Given the description of an element on the screen output the (x, y) to click on. 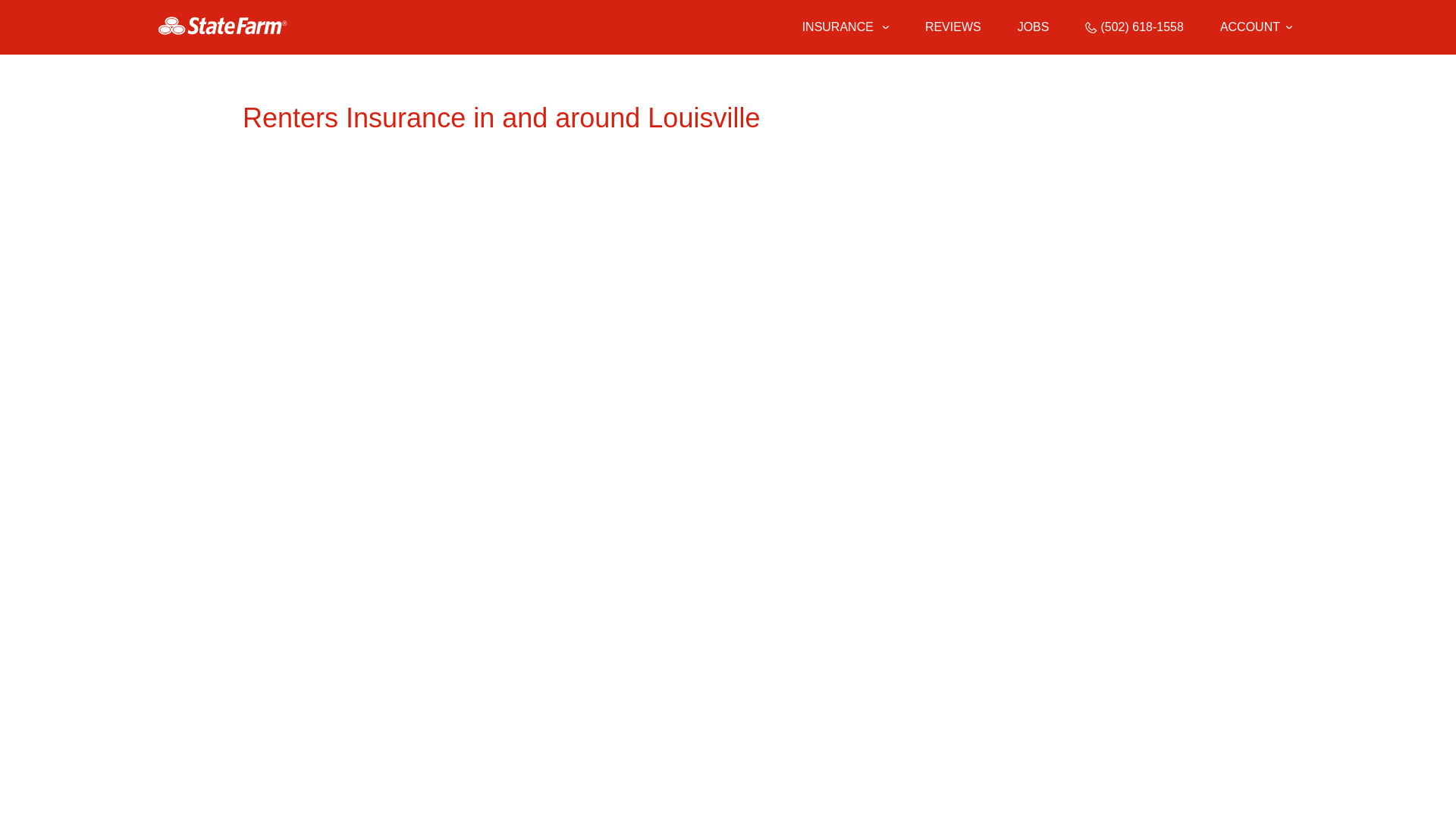
Insurance (845, 27)
ACCOUNT (1256, 27)
REVIEWS (952, 27)
JOBS (1033, 27)
INSURANCE (836, 27)
Account Options (1256, 27)
